Given the description of an element on the screen output the (x, y) to click on. 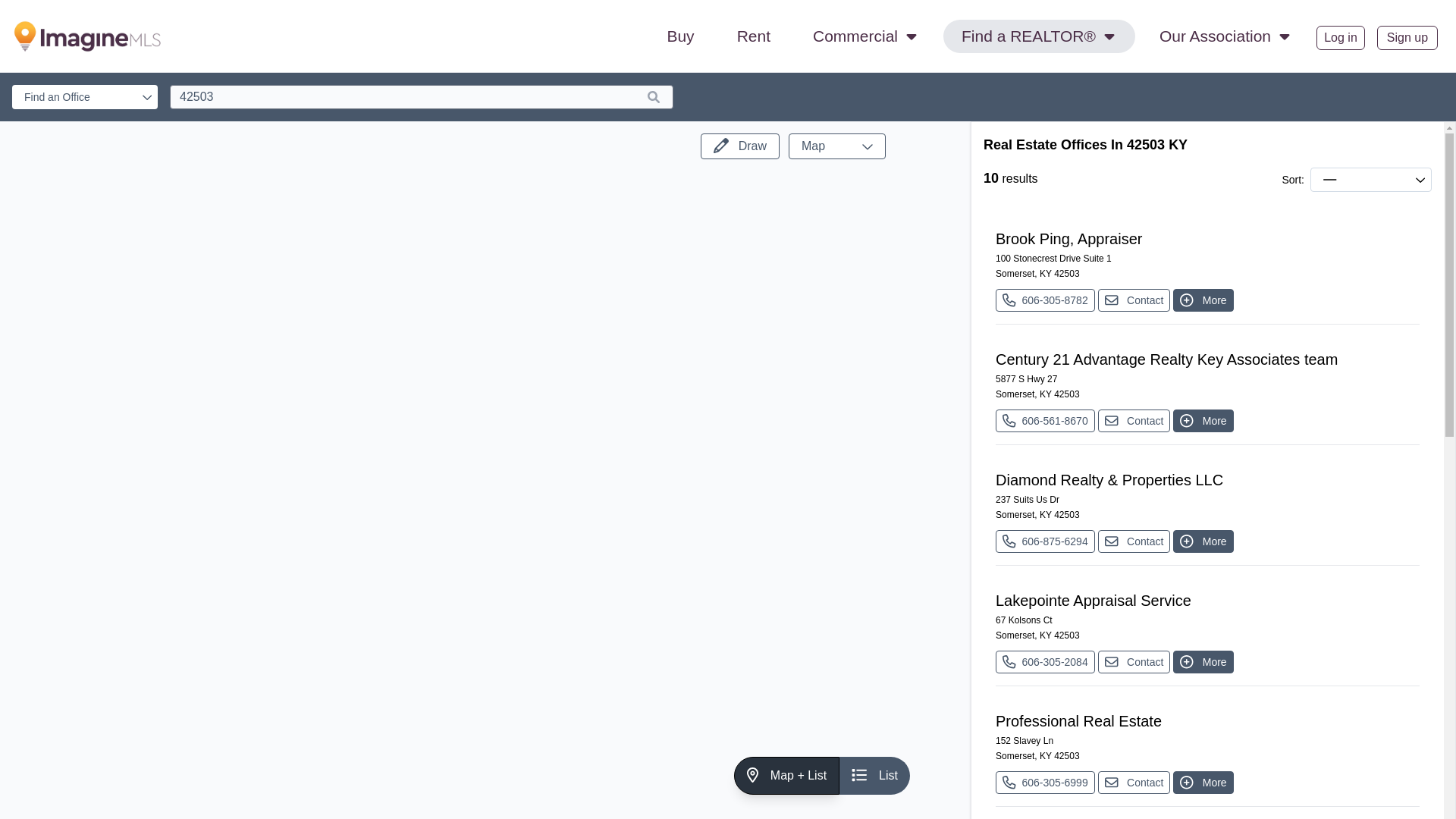
Professional Real Estate (1207, 721)
More (1203, 782)
More (1203, 420)
Our Association (1225, 36)
Contact (1133, 540)
Buy (679, 36)
606-875-6294 (1044, 540)
Contact (1133, 300)
Sign up (1407, 37)
606-305-2084 (1044, 661)
Lakepointe Appraisal Service (1207, 599)
606-561-8670 (1044, 420)
Contact (1133, 661)
Contact (1133, 782)
Commercial (865, 36)
